Given the description of an element on the screen output the (x, y) to click on. 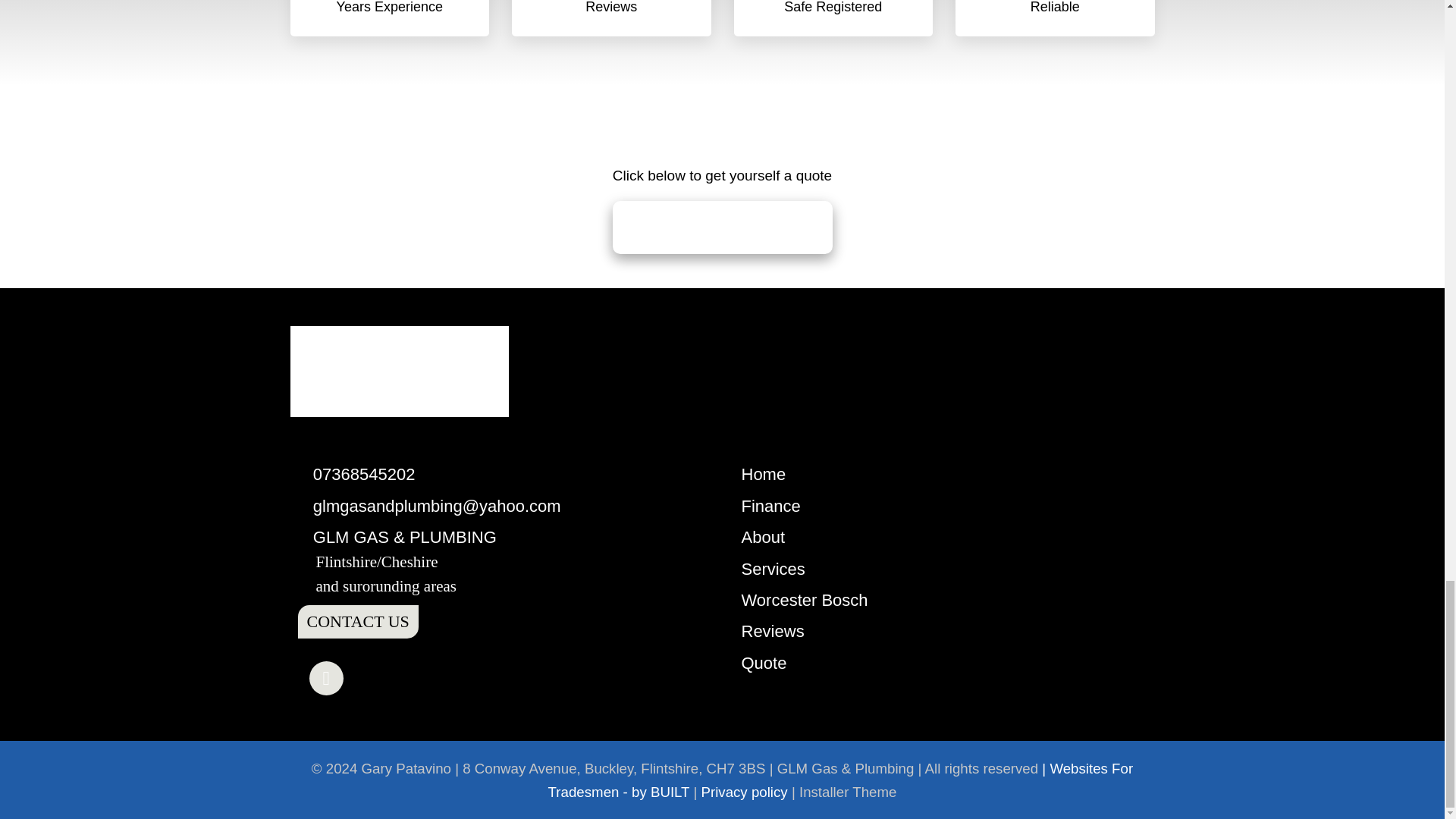
Home (763, 474)
About (763, 537)
Reviews (773, 630)
CONTACT US (357, 621)
Quote (764, 662)
Finance (770, 505)
GET A QUOTE (722, 226)
Services (773, 568)
07368545202 (363, 474)
Worcester Bosch (804, 599)
